Given the description of an element on the screen output the (x, y) to click on. 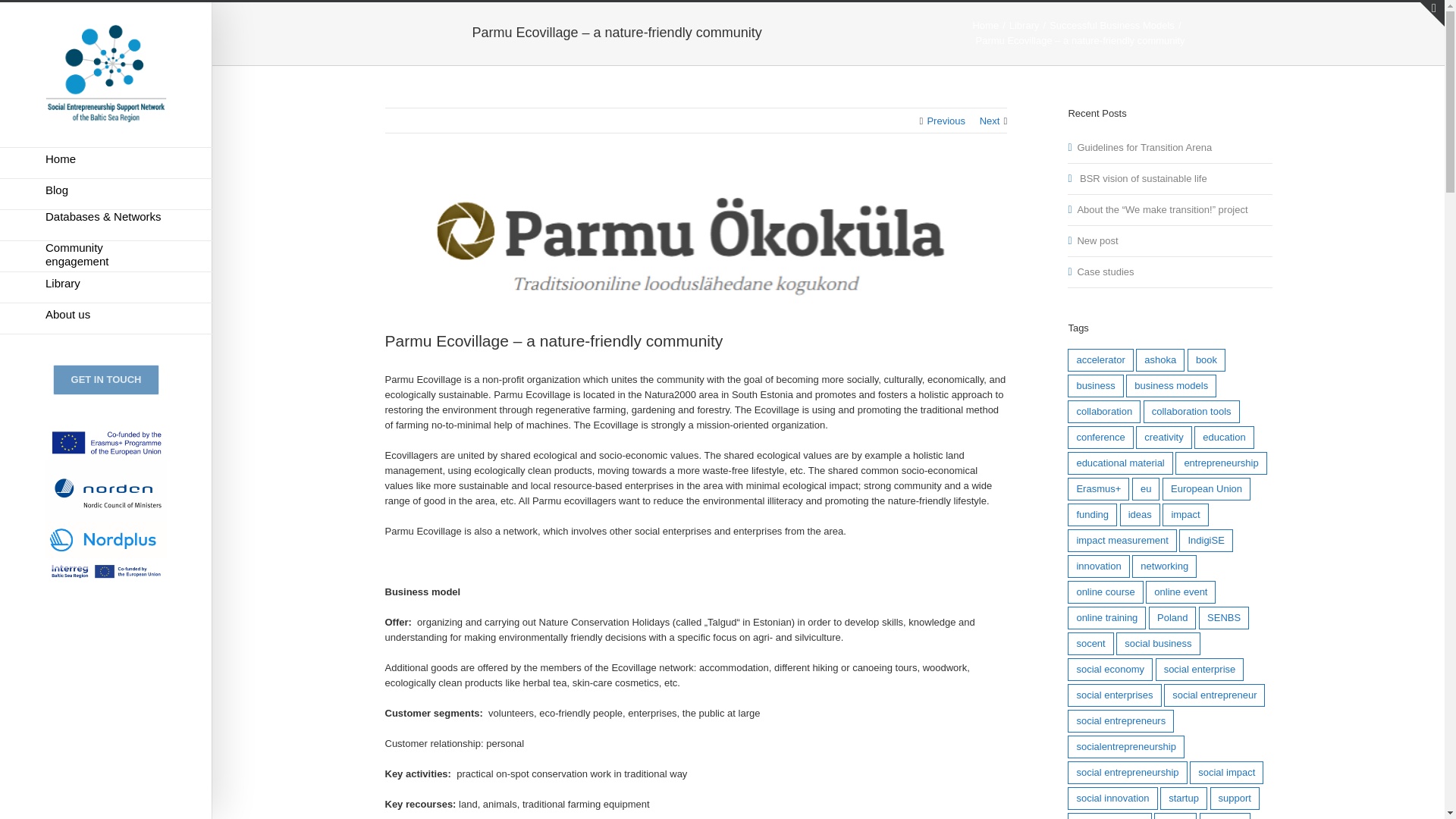
About us (106, 318)
Community engagement (106, 255)
Library (106, 287)
Blog (106, 194)
Home (106, 163)
GET IN TOUCH (106, 379)
